Given the description of an element on the screen output the (x, y) to click on. 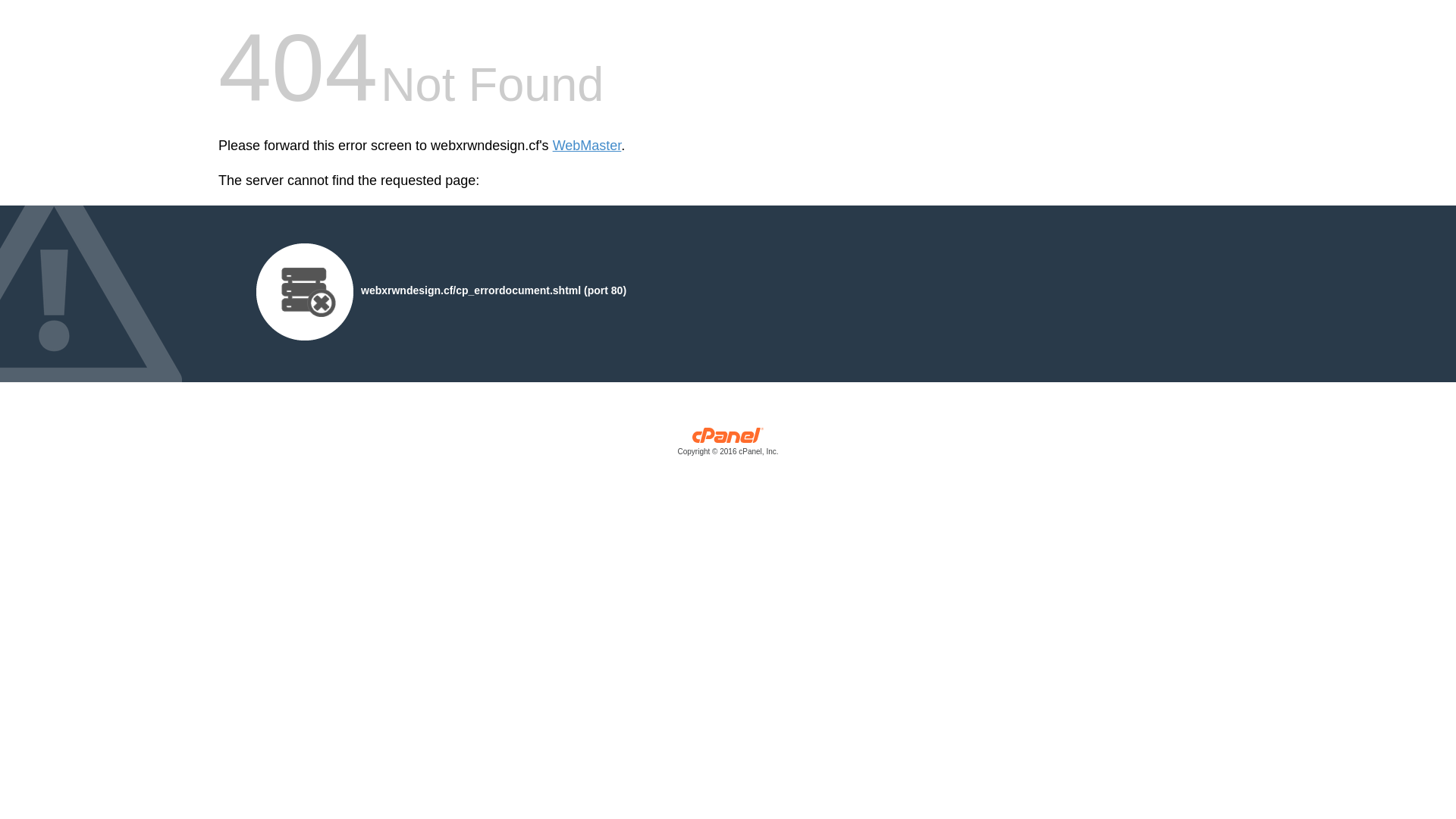
WebMaster Element type: text (586, 145)
